Given the description of an element on the screen output the (x, y) to click on. 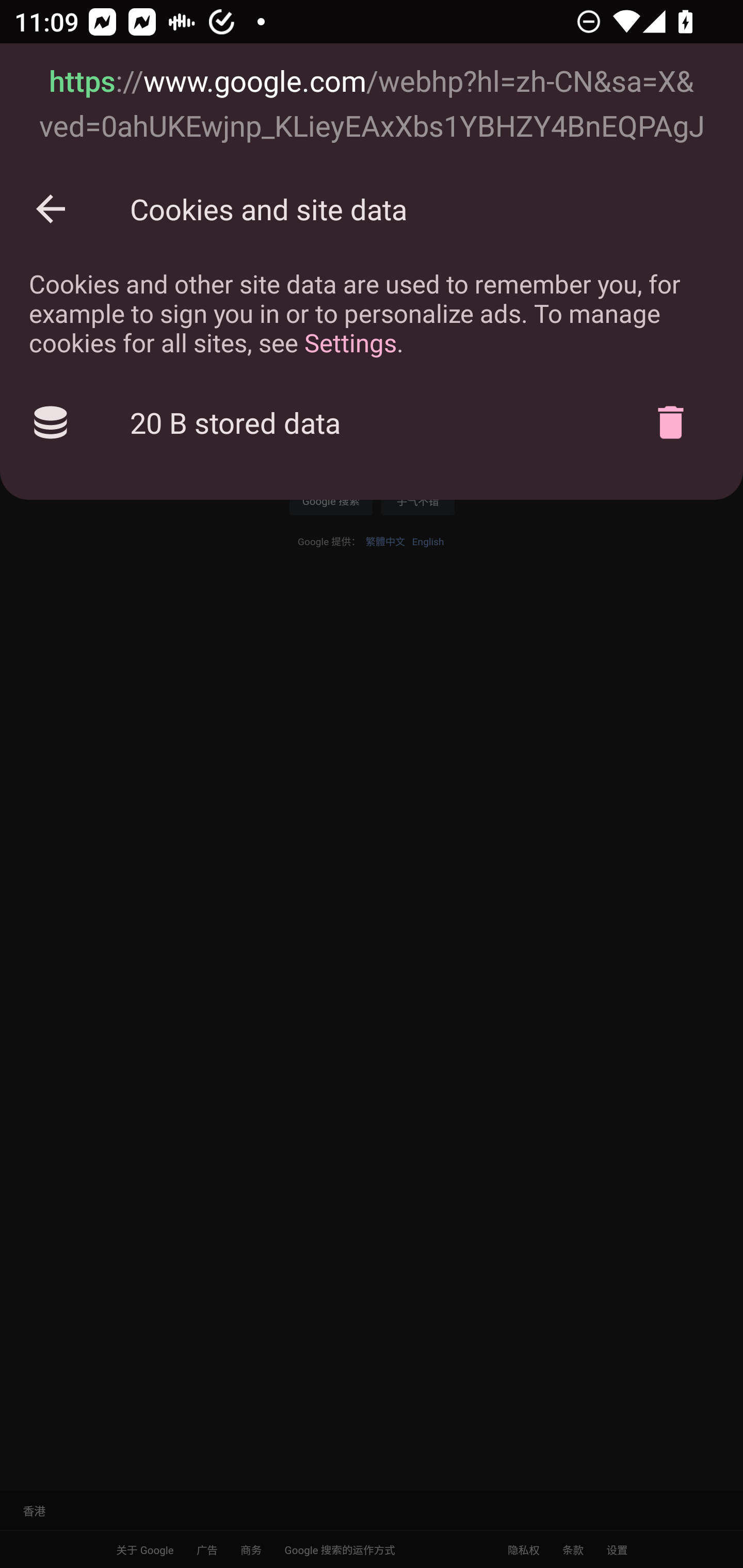
Back (50, 209)
20 B stored data Delete cookies? (371, 421)
